Given the description of an element on the screen output the (x, y) to click on. 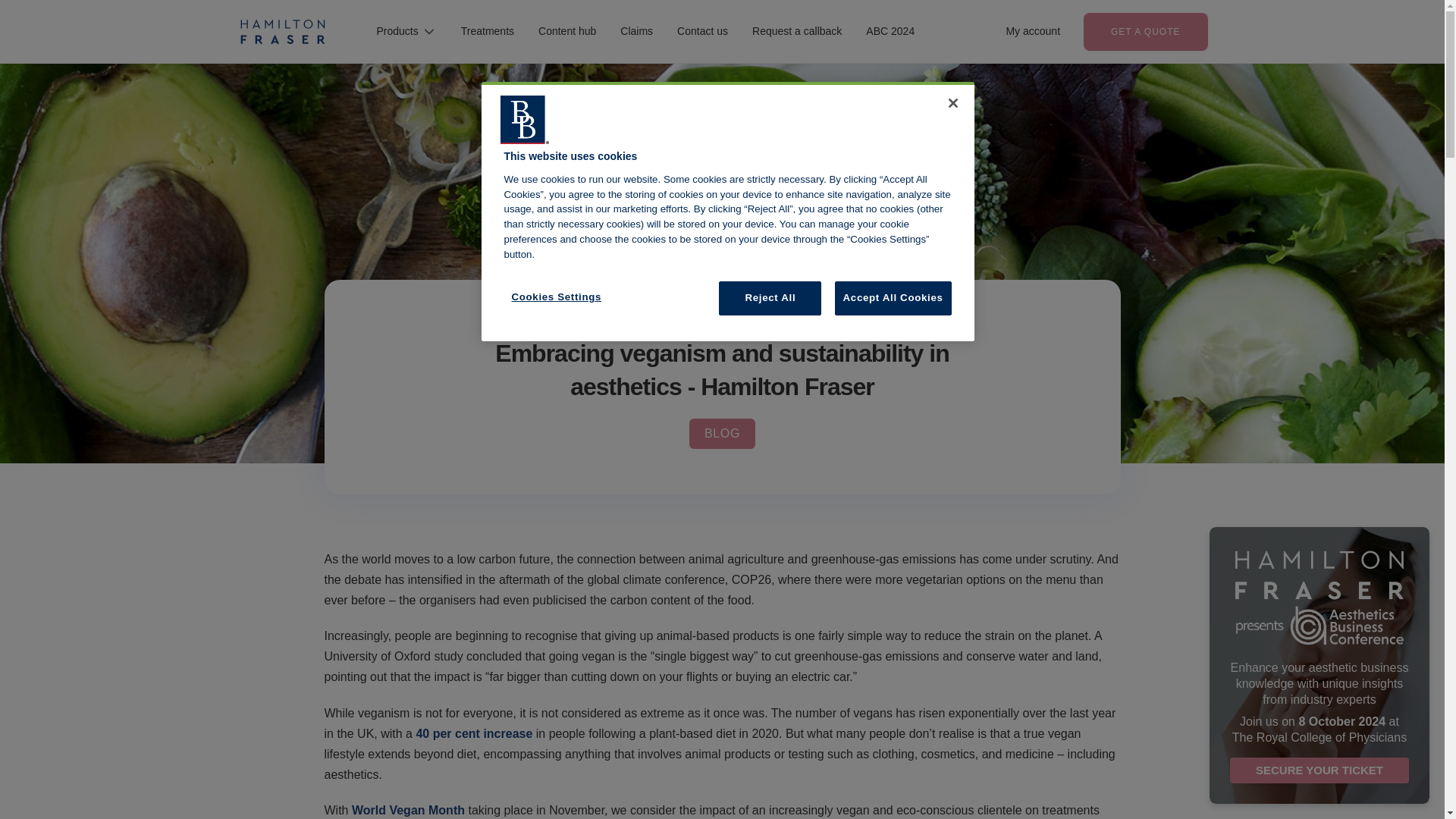
Contact us (702, 31)
Claims (636, 31)
Treatments (486, 31)
My account (1032, 31)
World Vegan Month (408, 809)
Request a callback (796, 31)
GET A QUOTE (1145, 31)
BLOG (721, 433)
ABC 2024 (889, 31)
40 per cent increase (473, 733)
Content hub (566, 31)
